Given the description of an element on the screen output the (x, y) to click on. 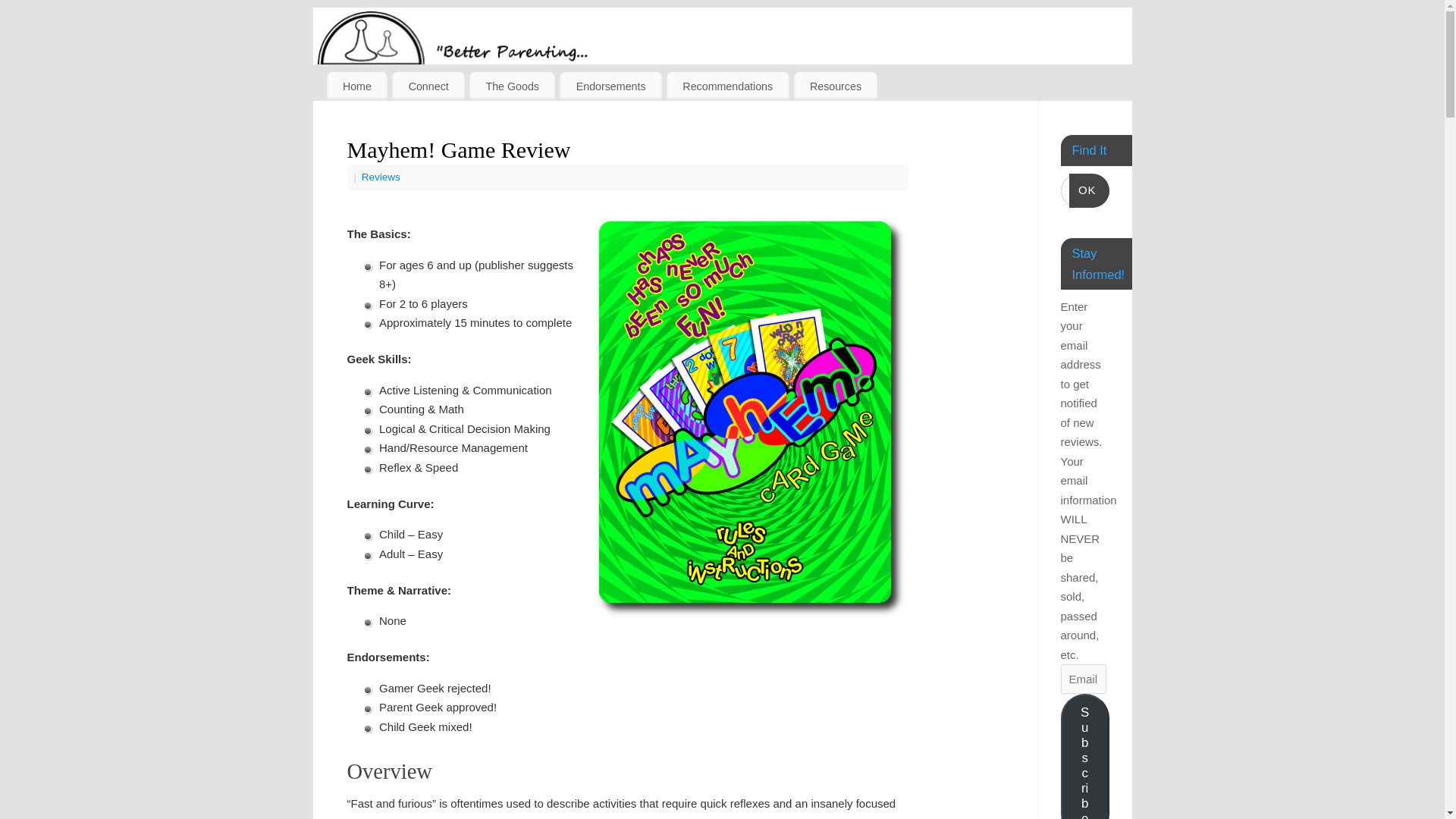
The Goods (511, 86)
Resources (835, 86)
Reviews (380, 176)
Endorsements (610, 86)
Recommendations (727, 86)
Home (356, 86)
Connect (427, 86)
